Given the description of an element on the screen output the (x, y) to click on. 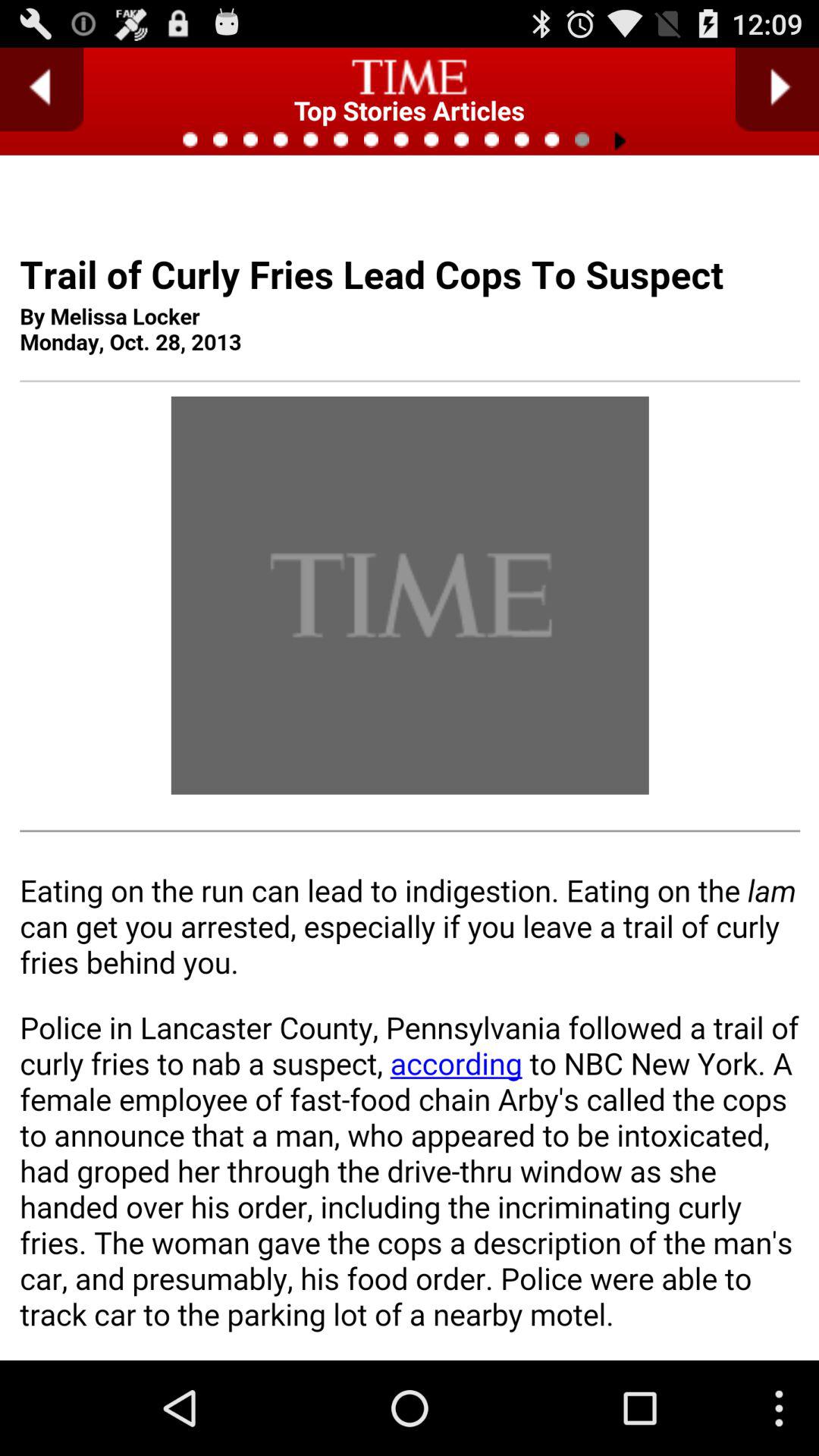
go back (41, 89)
